Given the description of an element on the screen output the (x, y) to click on. 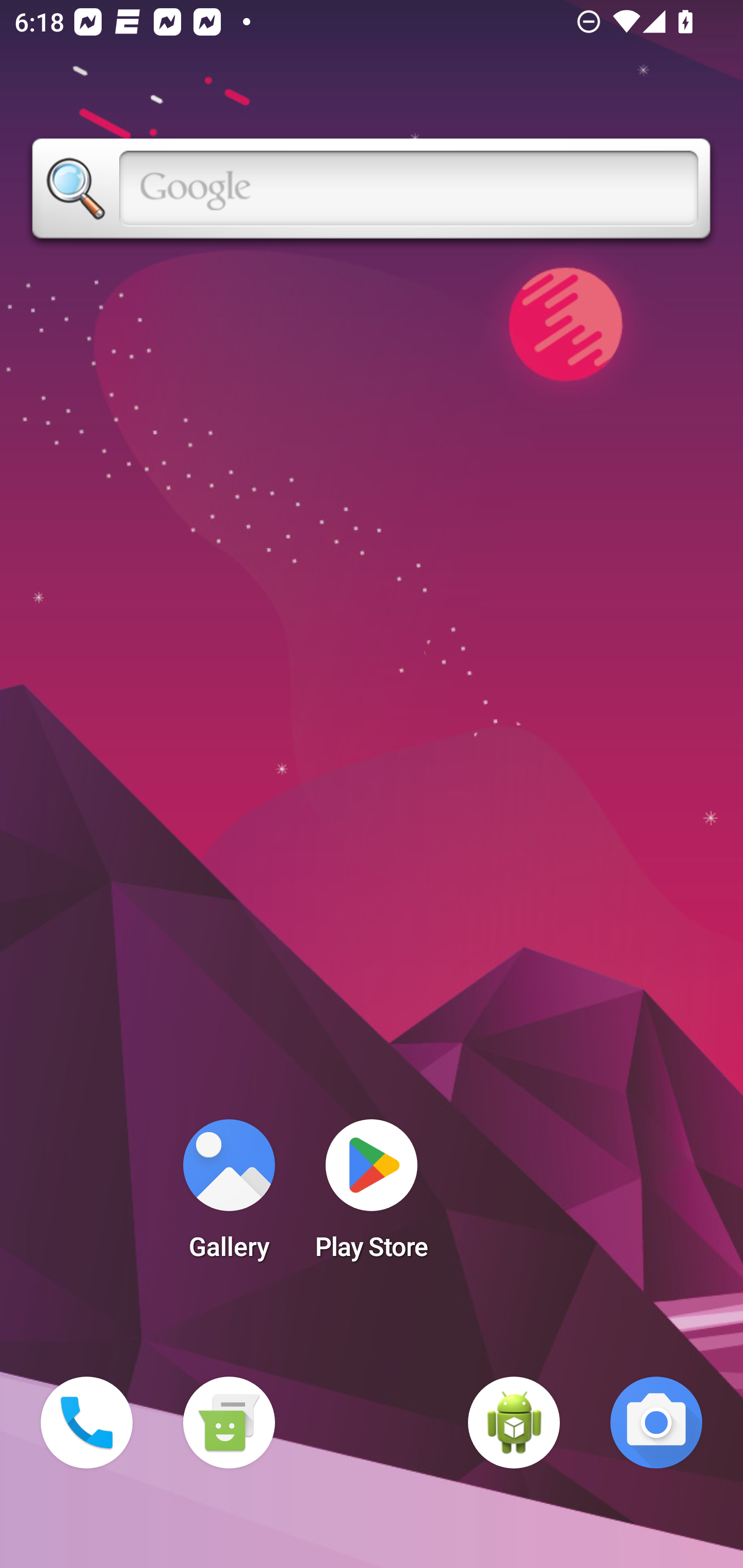
Gallery (228, 1195)
Play Store (371, 1195)
Phone (86, 1422)
Messaging (228, 1422)
WebView Browser Tester (513, 1422)
Camera (656, 1422)
